Given the description of an element on the screen output the (x, y) to click on. 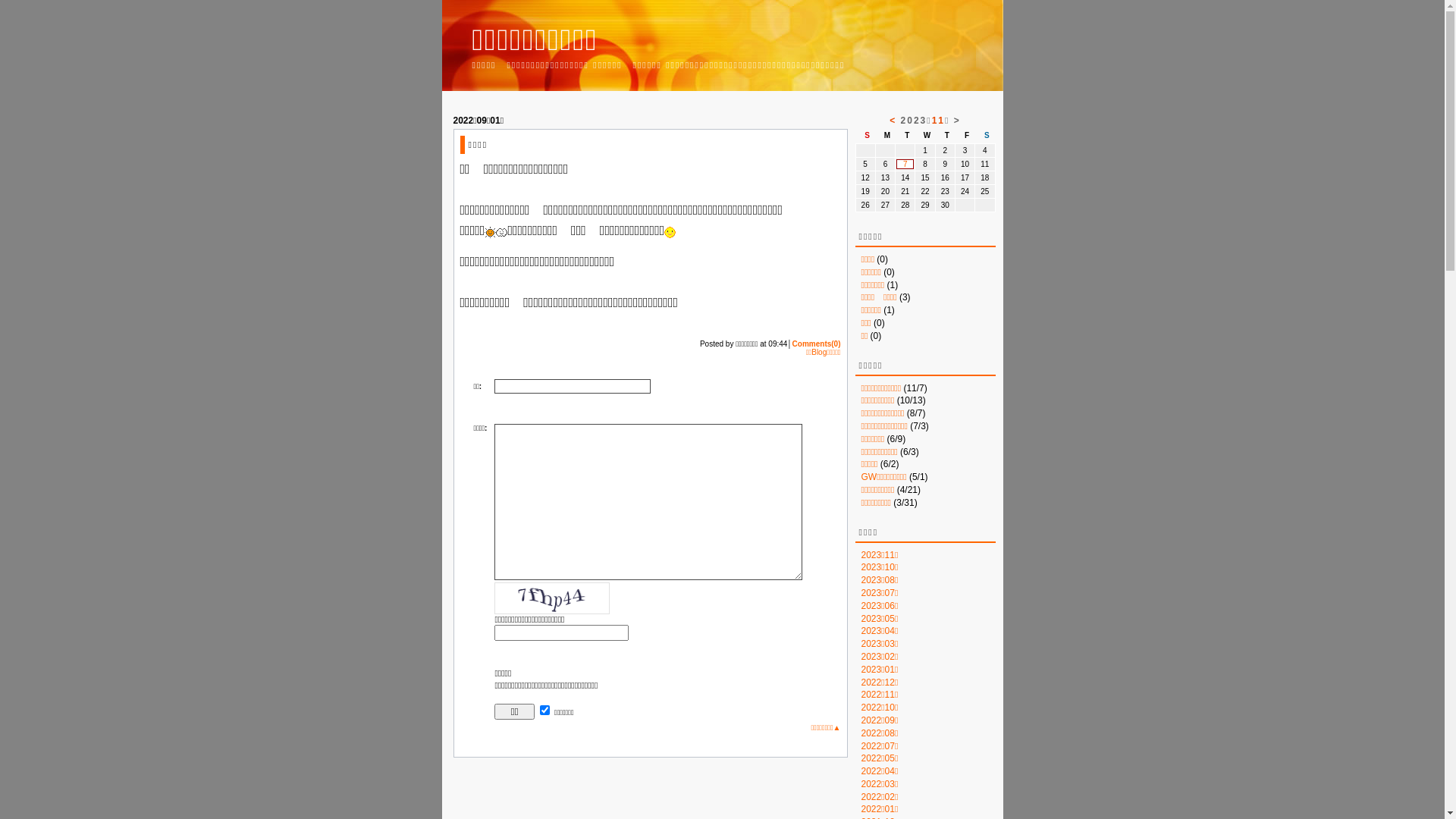
< Element type: text (892, 120)
11 Element type: text (937, 120)
face_01 Element type: hover (669, 232)
7 Element type: text (904, 164)
Comments(0) Element type: text (816, 343)
